Given the description of an element on the screen output the (x, y) to click on. 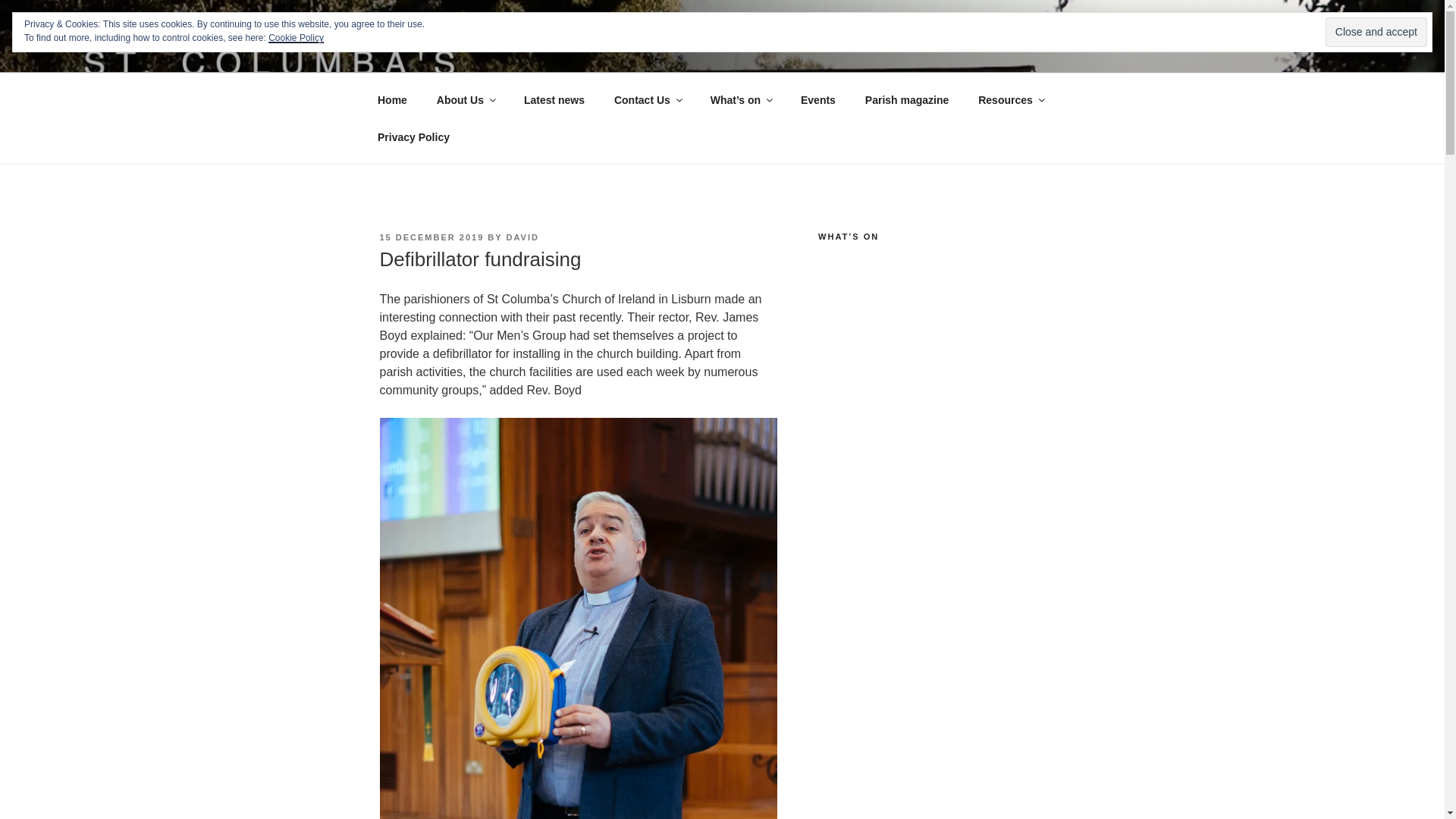
ST COLUMBA'S DERRYVOLGIE (610, 52)
Close and accept (1375, 31)
Home (392, 99)
About Us (464, 99)
Events (817, 99)
Resources (1011, 99)
15 DECEMBER 2019 (430, 236)
DAVID (521, 236)
Contact Us (646, 99)
Privacy Policy (413, 136)
